Given the description of an element on the screen output the (x, y) to click on. 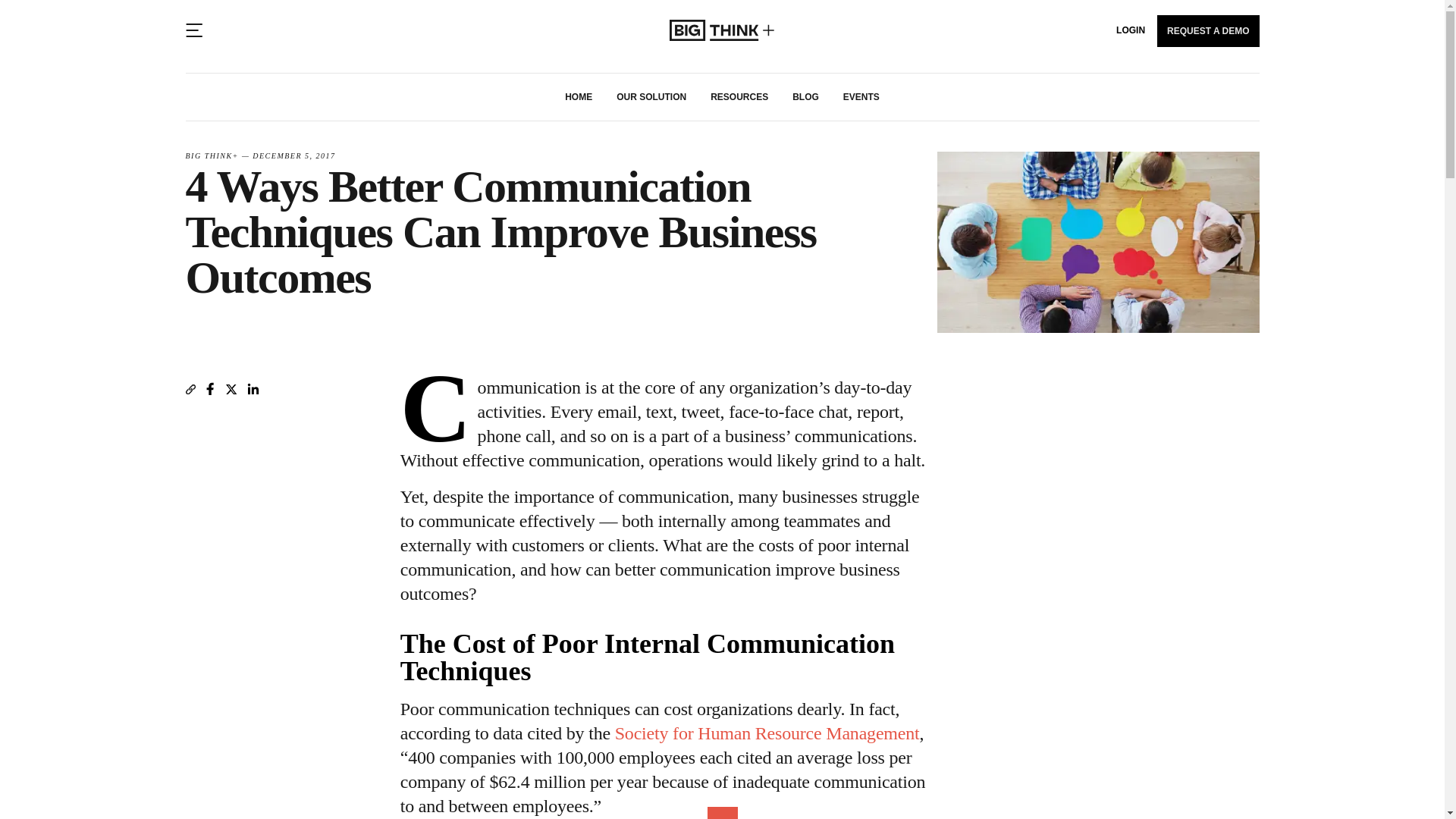
RESOURCES (739, 96)
Society for Human Resource Management (767, 732)
LOGIN (1130, 30)
EVENTS (861, 96)
REQUEST A DEMO (1208, 30)
Open the Main Navigation (193, 29)
Return to homepage (721, 29)
OUR SOLUTION (650, 96)
